Given the description of an element on the screen output the (x, y) to click on. 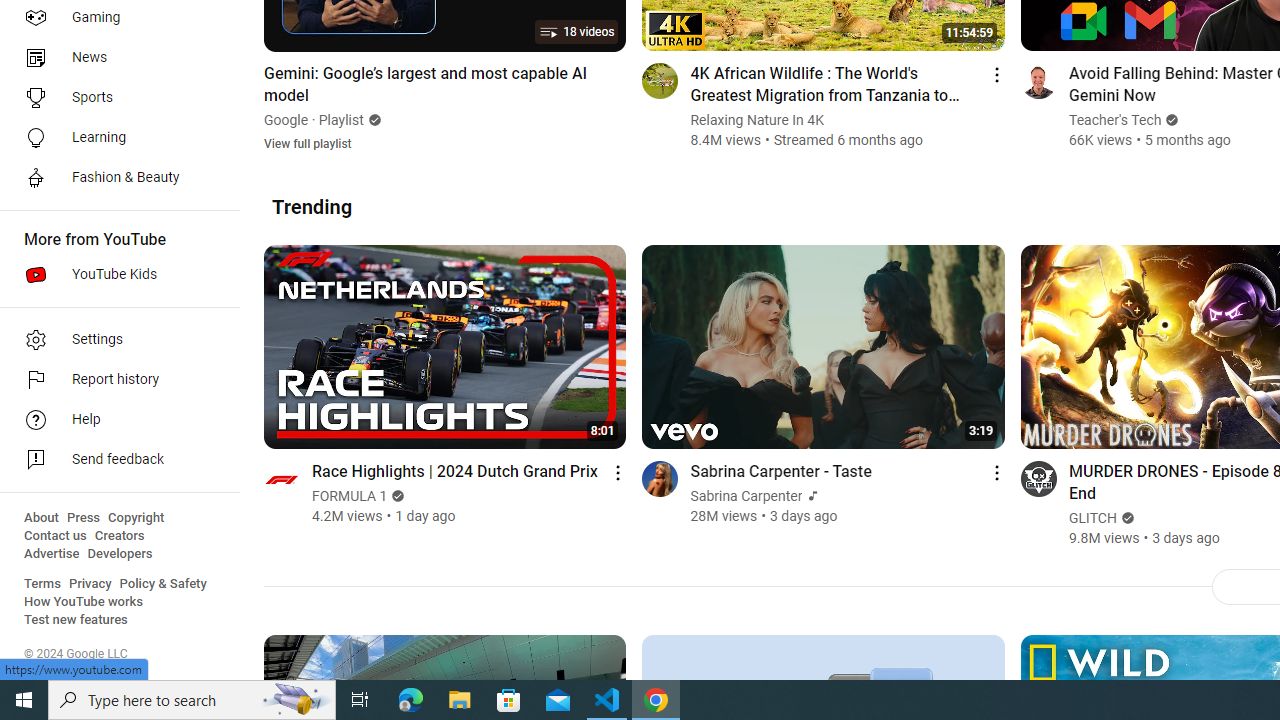
Creators (118, 536)
Settings (113, 339)
Trending (312, 206)
Send feedback (113, 459)
YouTube Kids (113, 274)
Relaxing Nature In 4K (757, 120)
Advertise (51, 554)
